Given the description of an element on the screen output the (x, y) to click on. 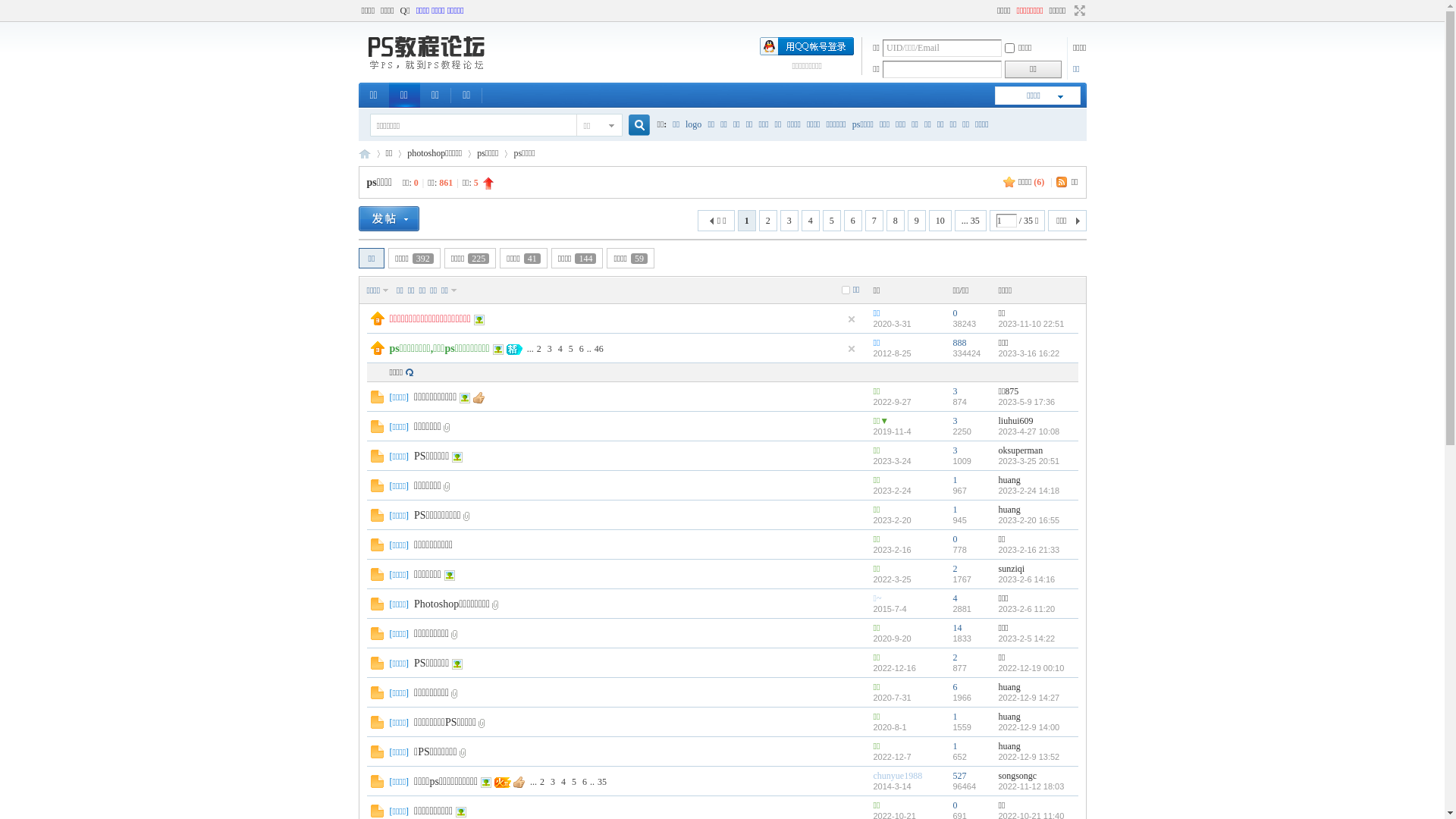
2023-3-16 16:22 Element type: text (1028, 352)
0 Element type: text (954, 538)
2 Element type: text (538, 347)
6 Element type: text (581, 347)
2023-4-27 10:08 Element type: text (1028, 431)
chunyue1988 Element type: text (897, 775)
... 35 Element type: text (970, 220)
4 Element type: text (563, 781)
liuhui609 Element type: text (1014, 420)
10 Element type: text (939, 220)
2 Element type: text (954, 568)
2 Element type: text (768, 220)
4 Element type: text (560, 347)
6 Element type: text (853, 220)
2 Element type: text (541, 781)
3 Element type: text (789, 220)
2023-5-9 17:36 Element type: text (1025, 401)
5 Element type: text (831, 220)
888 Element type: text (959, 342)
2023-3-25 20:51 Element type: text (1028, 460)
0 Element type: text (954, 312)
2 Element type: text (954, 657)
3 Element type: text (954, 450)
3 Element type: text (552, 781)
logo Element type: text (693, 124)
oksuperman Element type: text (1019, 450)
huang Element type: text (1008, 745)
4 Element type: text (810, 220)
5 Element type: text (570, 347)
huang Element type: text (1008, 686)
9 Element type: text (916, 220)
2022-11-12 18:03 Element type: text (1030, 785)
6 Element type: text (954, 686)
2023-2-20 16:55 Element type: text (1028, 519)
2023-2-16 21:33 Element type: text (1028, 549)
8 Element type: text (895, 220)
527 Element type: text (959, 775)
huang Element type: text (1008, 509)
2023-2-5 14:22 Element type: text (1025, 638)
2023-2-24 14:18 Element type: text (1028, 490)
2022-12-9 14:27 Element type: text (1028, 697)
14 Element type: text (956, 627)
0 Element type: text (954, 805)
true Element type: text (632, 125)
2022-12-9 13:52 Element type: text (1028, 756)
2023-2-6 14:16 Element type: text (1025, 578)
2023-11-10 22:51 Element type: text (1030, 323)
2023-2-6 11:20 Element type: text (1025, 608)
1 Element type: text (954, 716)
35 Element type: text (601, 781)
3 Element type: text (954, 390)
5 Element type: text (573, 781)
46 Element type: text (598, 347)
huang Element type: text (1008, 479)
2022-12-9 14:00 Element type: text (1028, 726)
1 Element type: text (954, 509)
sunziqi Element type: text (1010, 568)
6 Element type: text (584, 781)
1 Element type: text (954, 479)
2022-12-19 00:10 Element type: text (1030, 667)
3 Element type: text (954, 420)
4 Element type: text (954, 598)
7 Element type: text (874, 220)
3 Element type: text (549, 347)
1 Element type: text (954, 745)
huang Element type: text (1008, 716)
songsongc Element type: text (1016, 775)
